Given the description of an element on the screen output the (x, y) to click on. 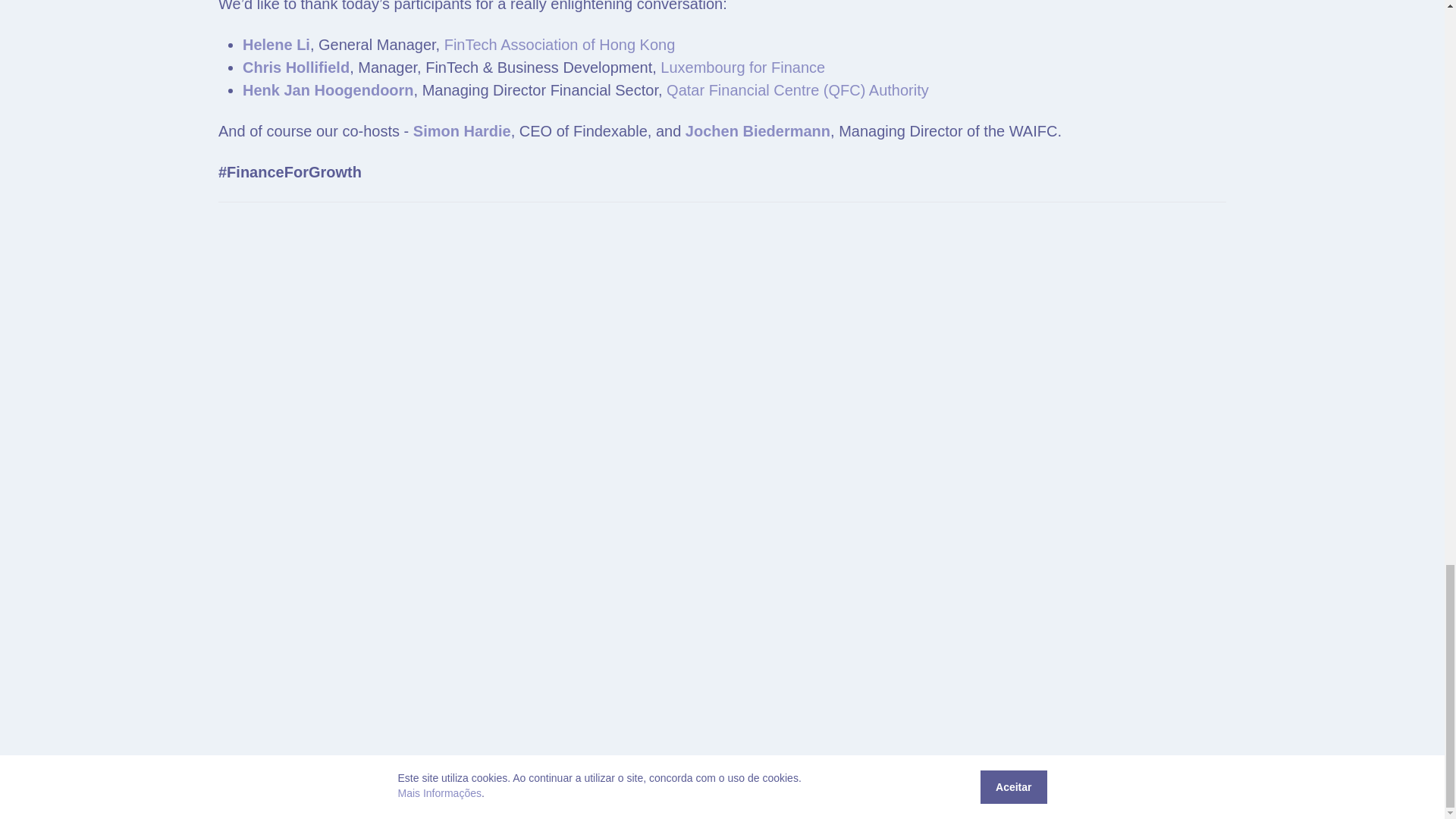
FinTech Association of Hong Kong (559, 44)
Jochen Biedermann (757, 130)
Henk Jan Hoogendoorn (328, 89)
Simon Hardie (462, 130)
Luxembourg for Finance (743, 67)
Chris Hollifield (296, 67)
Helene Li (276, 44)
